Given the description of an element on the screen output the (x, y) to click on. 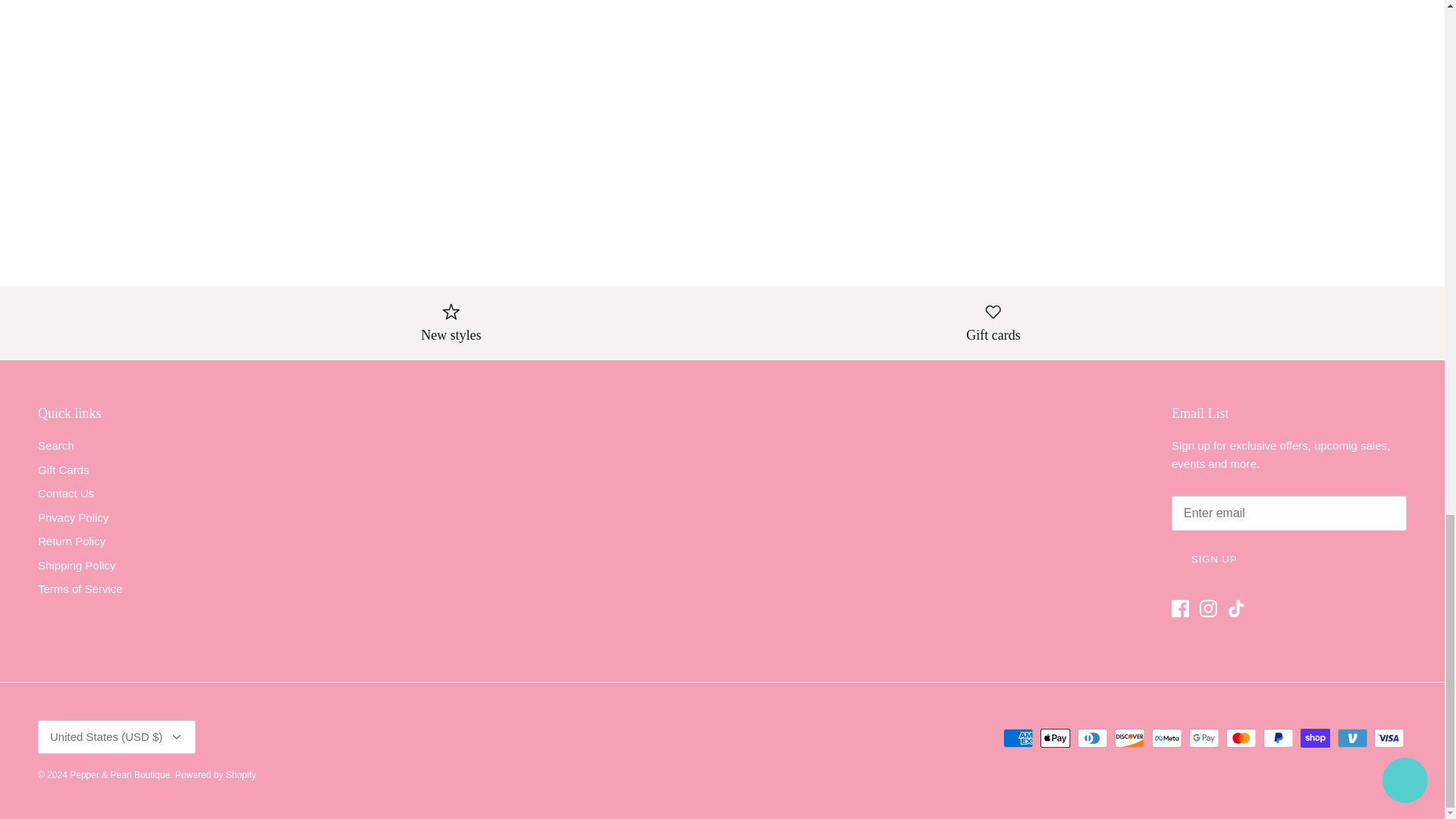
Meta Pay (1166, 737)
Facebook (1180, 608)
Instagram (1208, 608)
Diners Club (1092, 737)
Discover (1129, 737)
American Express (1018, 737)
Apple Pay (1055, 737)
